Given the description of an element on the screen output the (x, y) to click on. 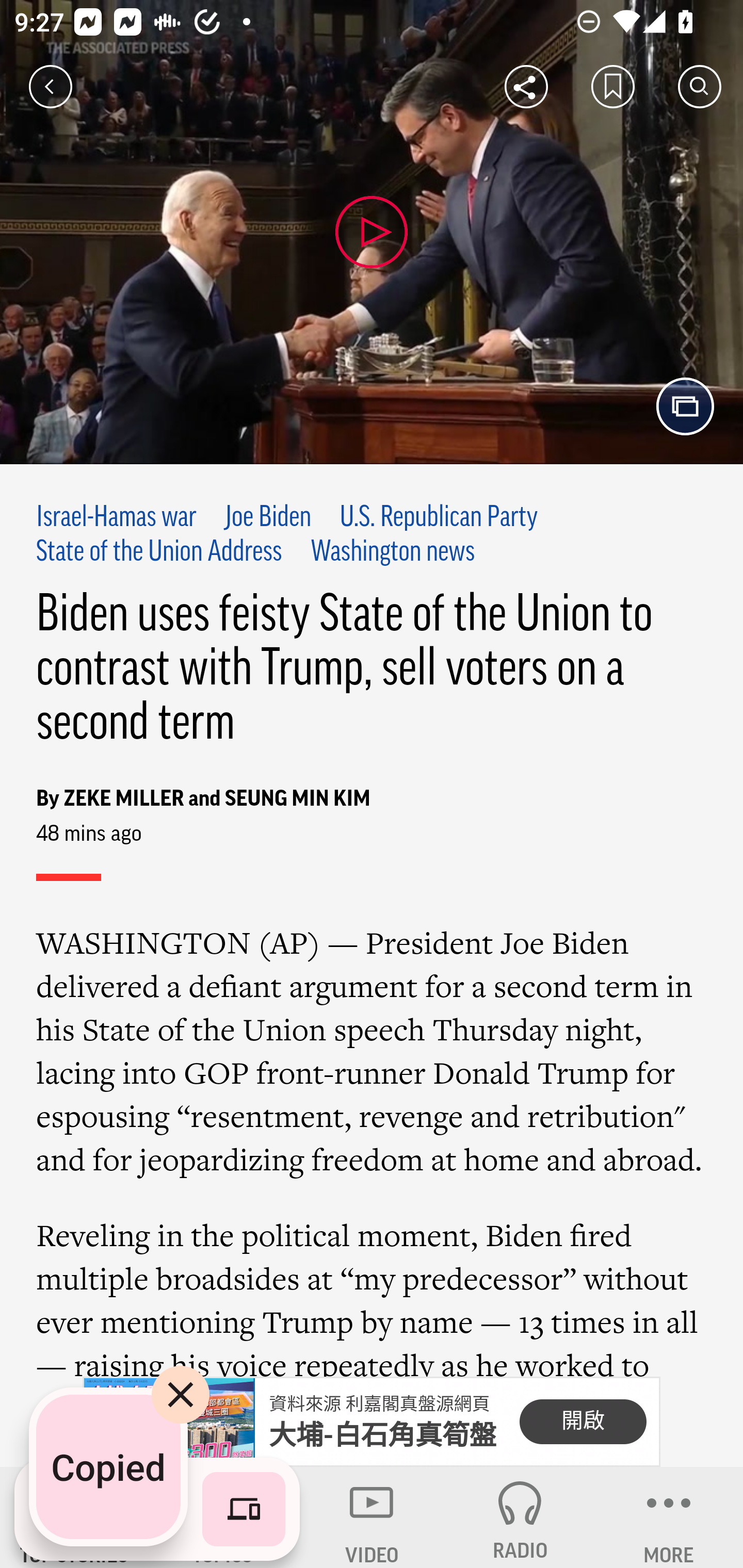
Israel-Hamas war (117, 518)
Joe Biden (267, 518)
U.S. Republican Party (438, 518)
State of the Union Address (159, 552)
Washington news (393, 552)
資料來源 利嘉閣真盤源網頁 (379, 1403)
開啟 (582, 1421)
大埔-白石角真筍盤 (382, 1434)
TOPICS (222, 1517)
VIDEO (371, 1517)
RADIO (519, 1517)
MORE (668, 1517)
